Given the description of an element on the screen output the (x, y) to click on. 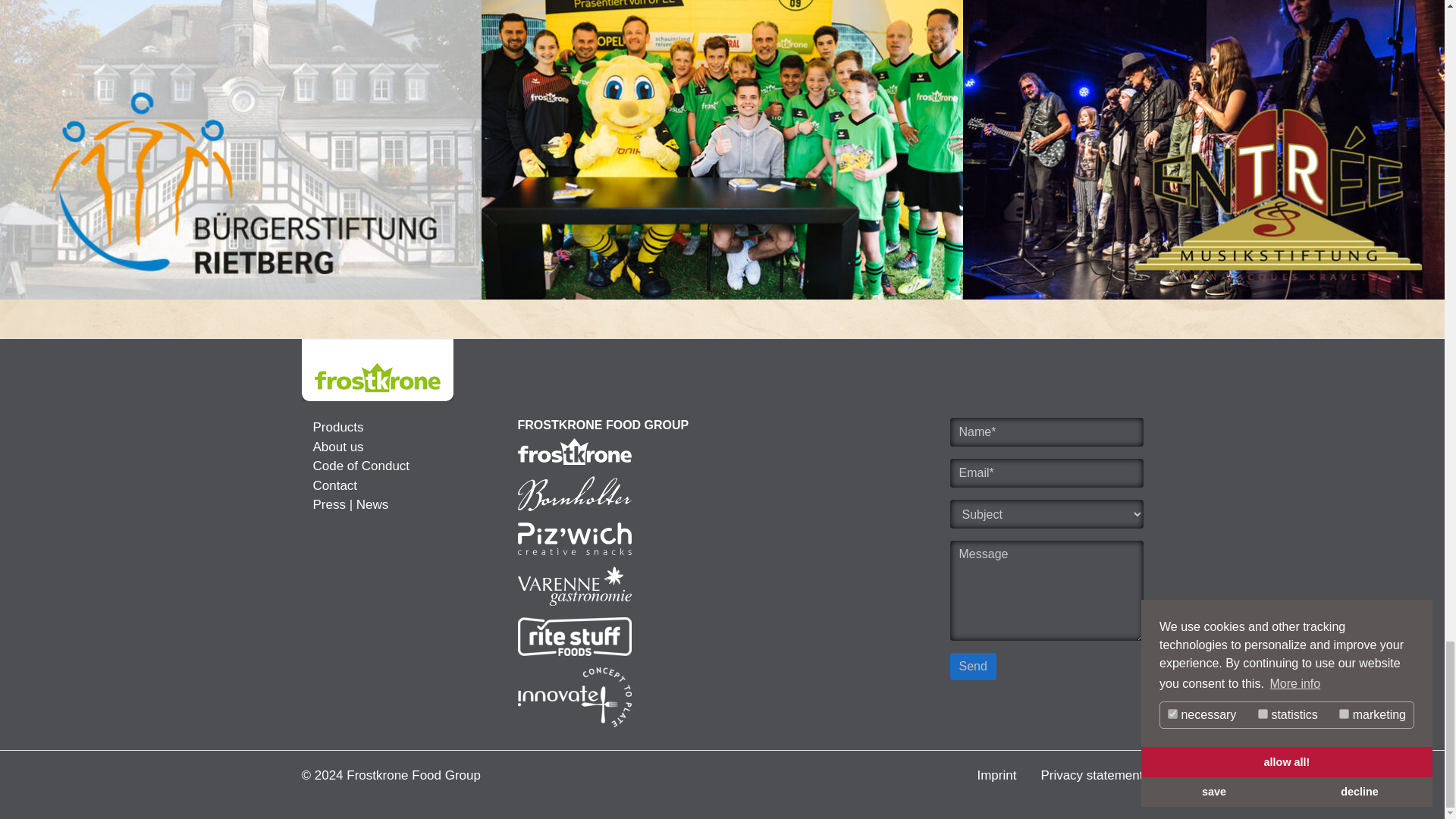
About us (337, 446)
Code of Conduct (361, 465)
Send (972, 666)
Products (337, 427)
